Given the description of an element on the screen output the (x, y) to click on. 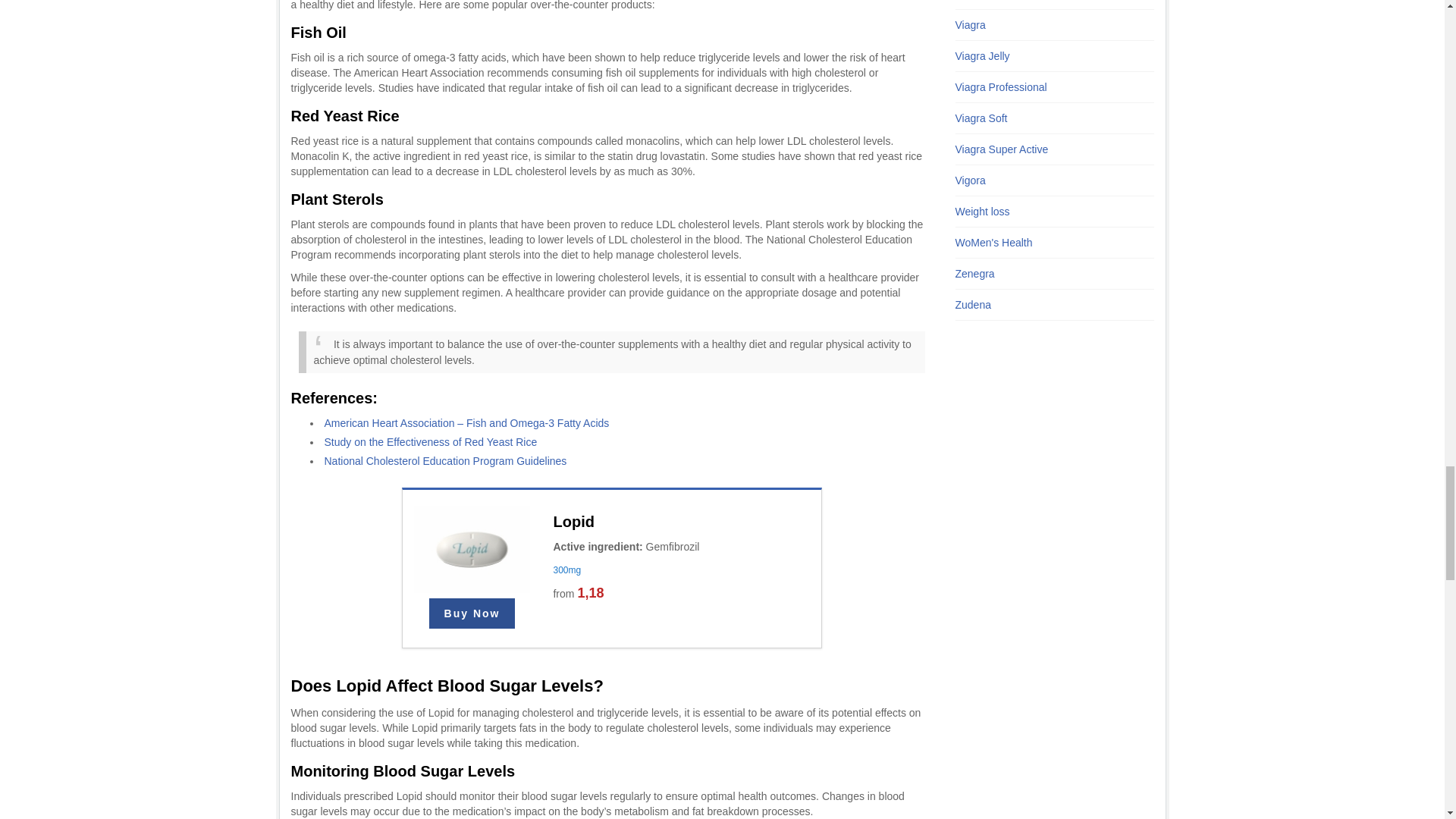
National Cholesterol Education Program Guidelines (445, 460)
Study on the Effectiveness of Red Yeast Rice (430, 441)
Buy Now (472, 613)
Buy Now (472, 613)
